Given the description of an element on the screen output the (x, y) to click on. 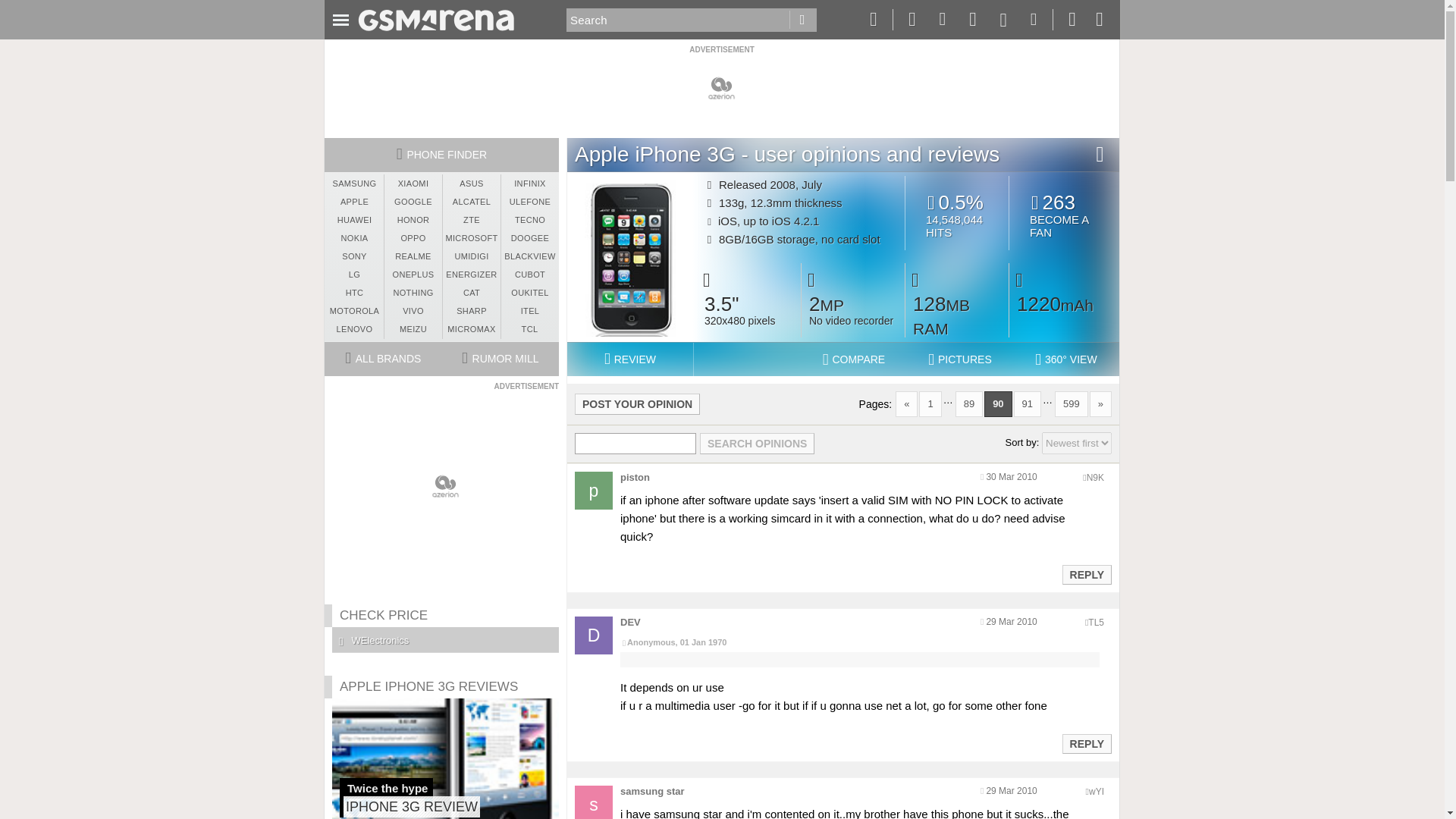
REVIEW (630, 359)
Reply to this post (1086, 743)
Go (802, 19)
Go (802, 19)
Encoded anonymized location (1094, 477)
Encoded anonymized location (1095, 622)
Encoded anonymized location (1064, 214)
Search opinions (1096, 791)
Reply to this post (756, 443)
COMPARE (1086, 574)
POST YOUR OPINION (853, 359)
Sort comments by (637, 403)
PICTURES (1077, 443)
